Given the description of an element on the screen output the (x, y) to click on. 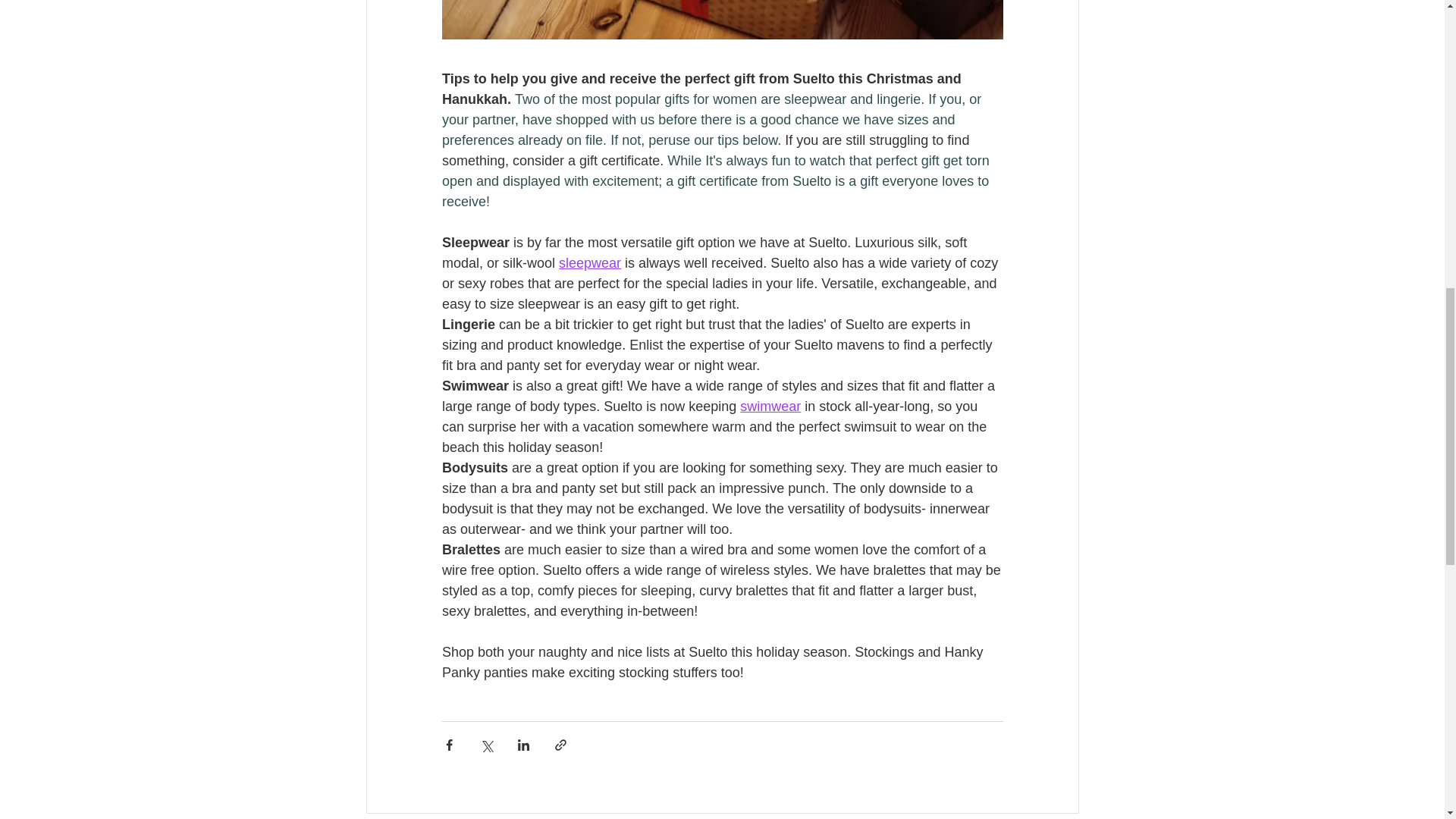
swimwear (769, 406)
sleepwear (590, 263)
